Given the description of an element on the screen output the (x, y) to click on. 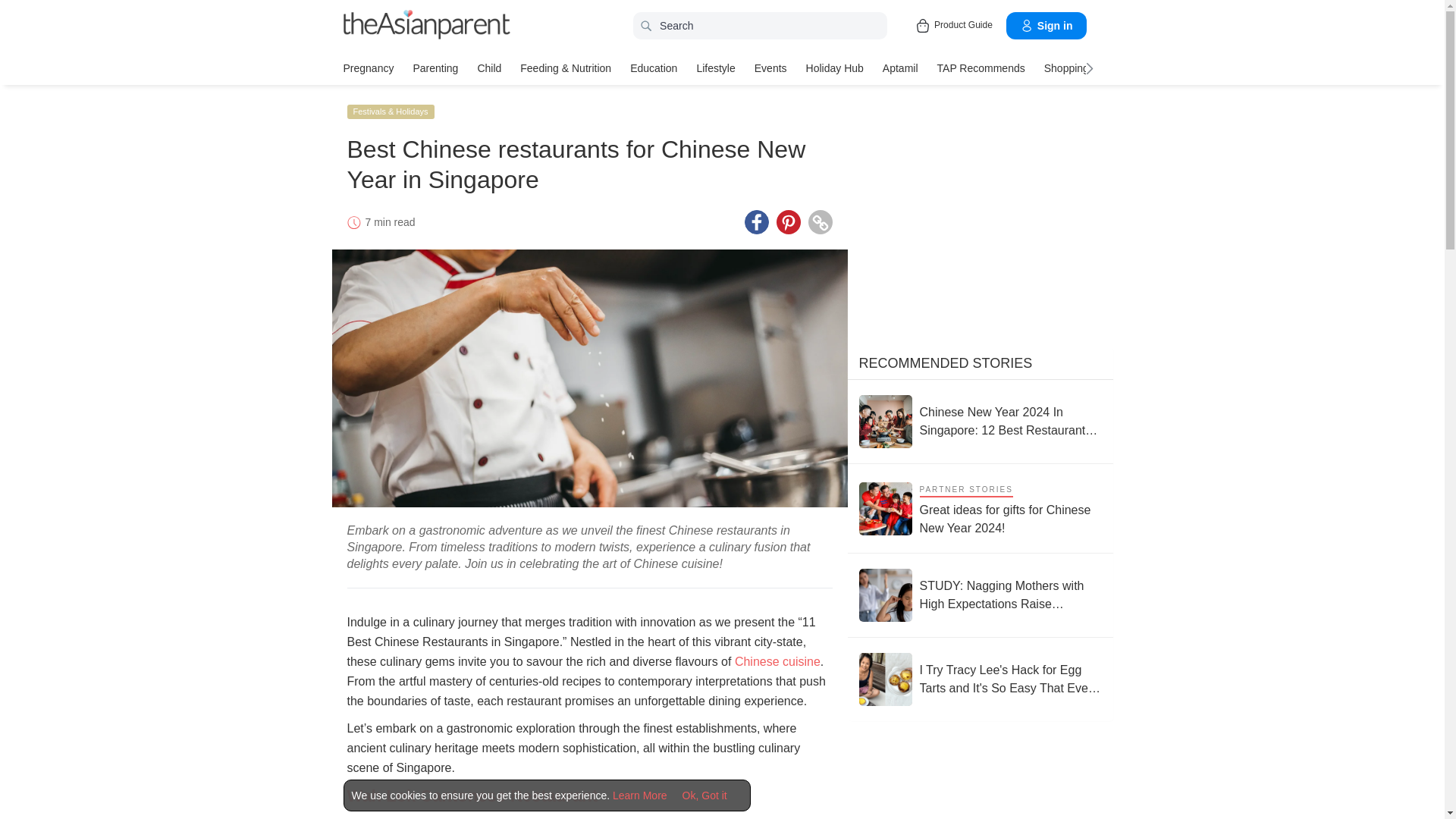
logo (425, 25)
Child (488, 67)
Parenting (435, 67)
Lifestyle (715, 67)
Parenting (435, 67)
theAsianparent (425, 24)
Pregnancy (367, 67)
Education (653, 67)
Child (488, 67)
Sign in (1046, 25)
Pregnancy (367, 67)
